Given the description of an element on the screen output the (x, y) to click on. 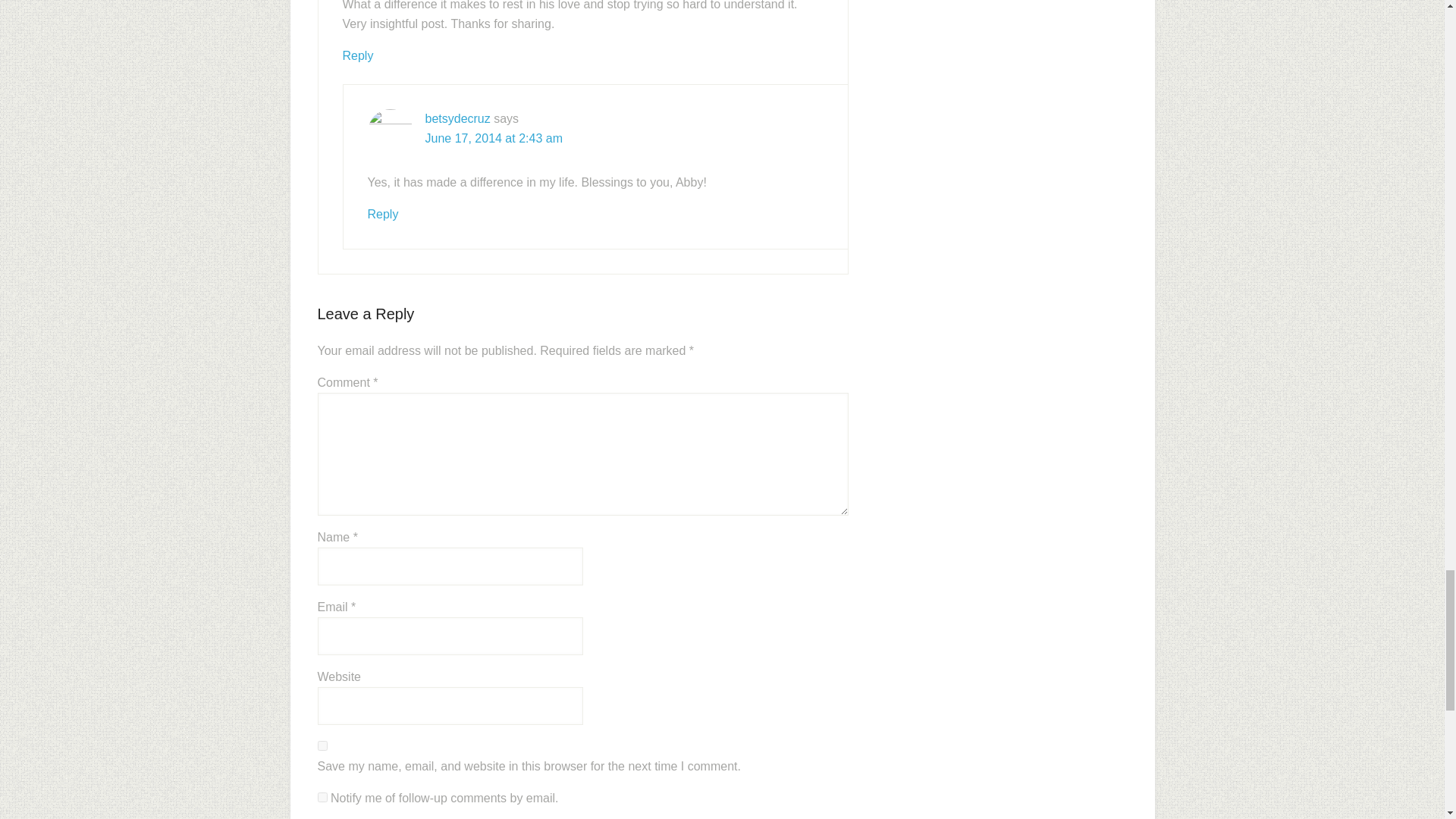
yes (321, 746)
betsydecruz (457, 118)
subscribe (321, 797)
Reply (358, 55)
Reply (381, 214)
June 17, 2014 at 2:43 am (493, 137)
